Given the description of an element on the screen output the (x, y) to click on. 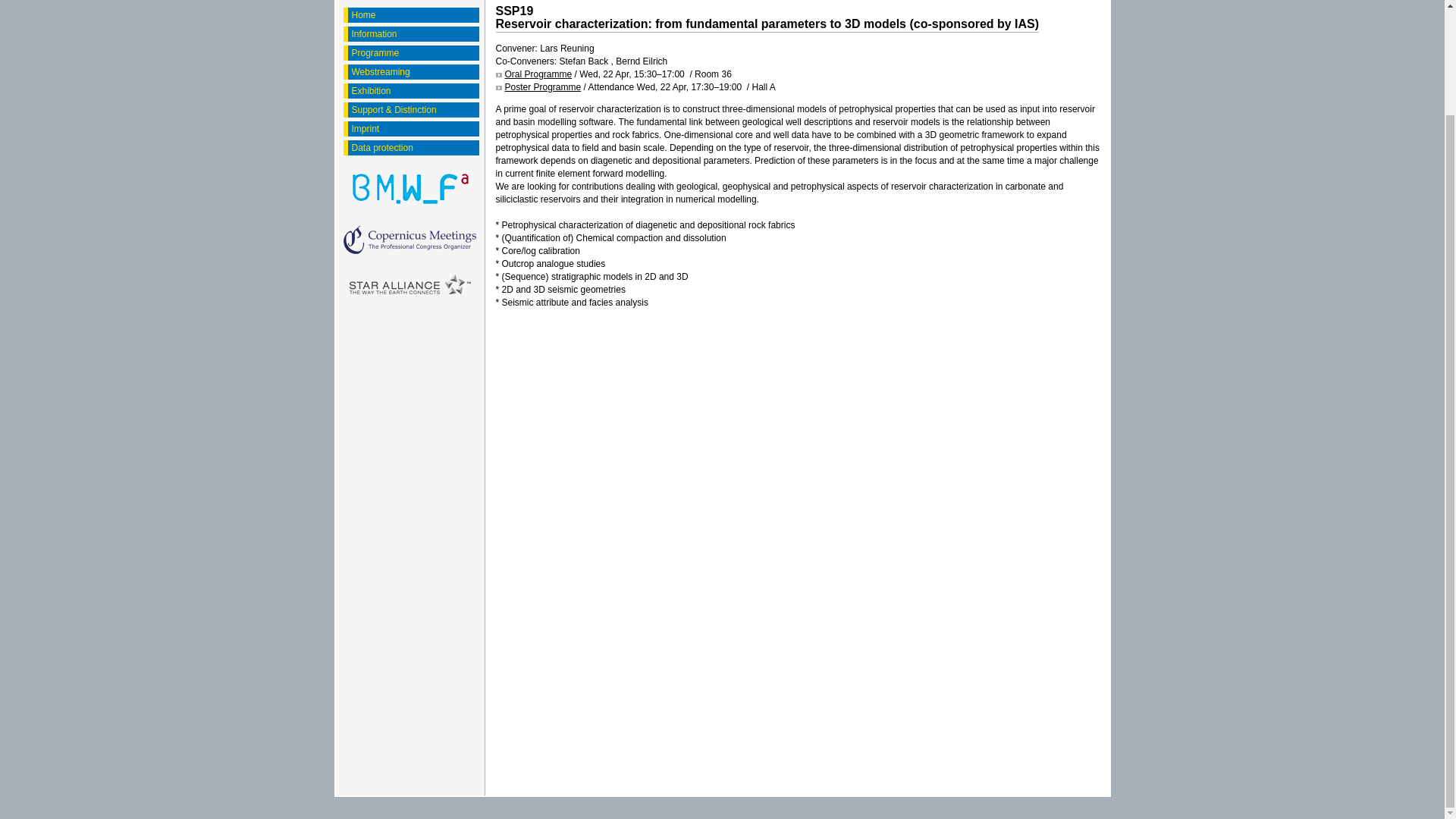
Home (413, 14)
Oral Programme (534, 74)
Exhibition (413, 90)
Programme (413, 52)
Imprint (413, 128)
Data protection (413, 147)
Poster Programme (538, 87)
Information (413, 33)
Webstreaming (413, 71)
